Given the description of an element on the screen output the (x, y) to click on. 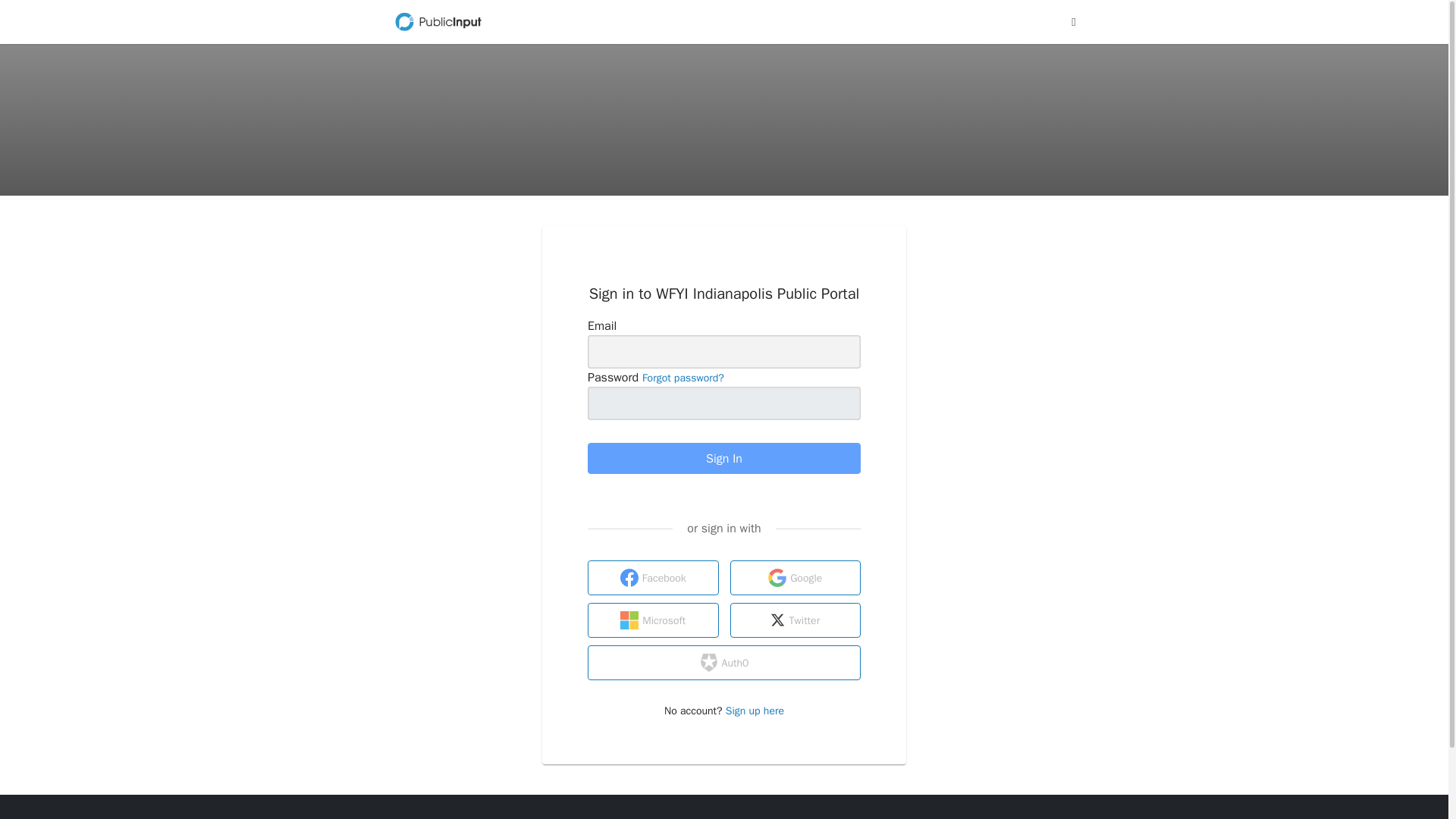
Twitter (794, 620)
Microsoft (653, 620)
Sign In (724, 458)
Auth0 (724, 662)
Sign up here (754, 710)
Forgot password? (682, 377)
Facebook (653, 577)
Google (794, 577)
